Given the description of an element on the screen output the (x, y) to click on. 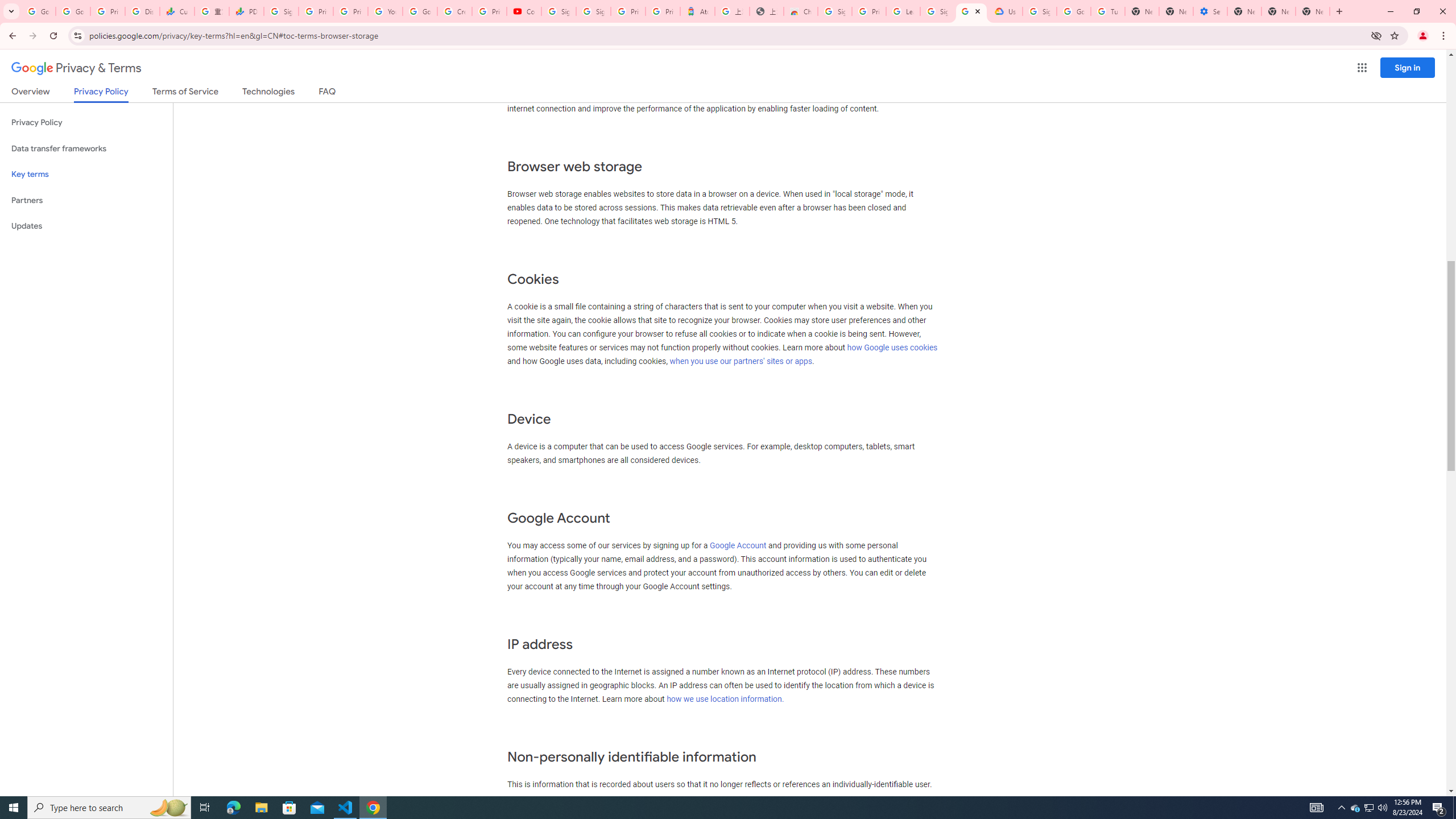
Google Account (738, 545)
Sign in - Google Accounts (1039, 11)
New Tab (1312, 11)
Settings - Addresses and more (1209, 11)
Content Creator Programs & Opportunities - YouTube Creators (524, 11)
